Given the description of an element on the screen output the (x, y) to click on. 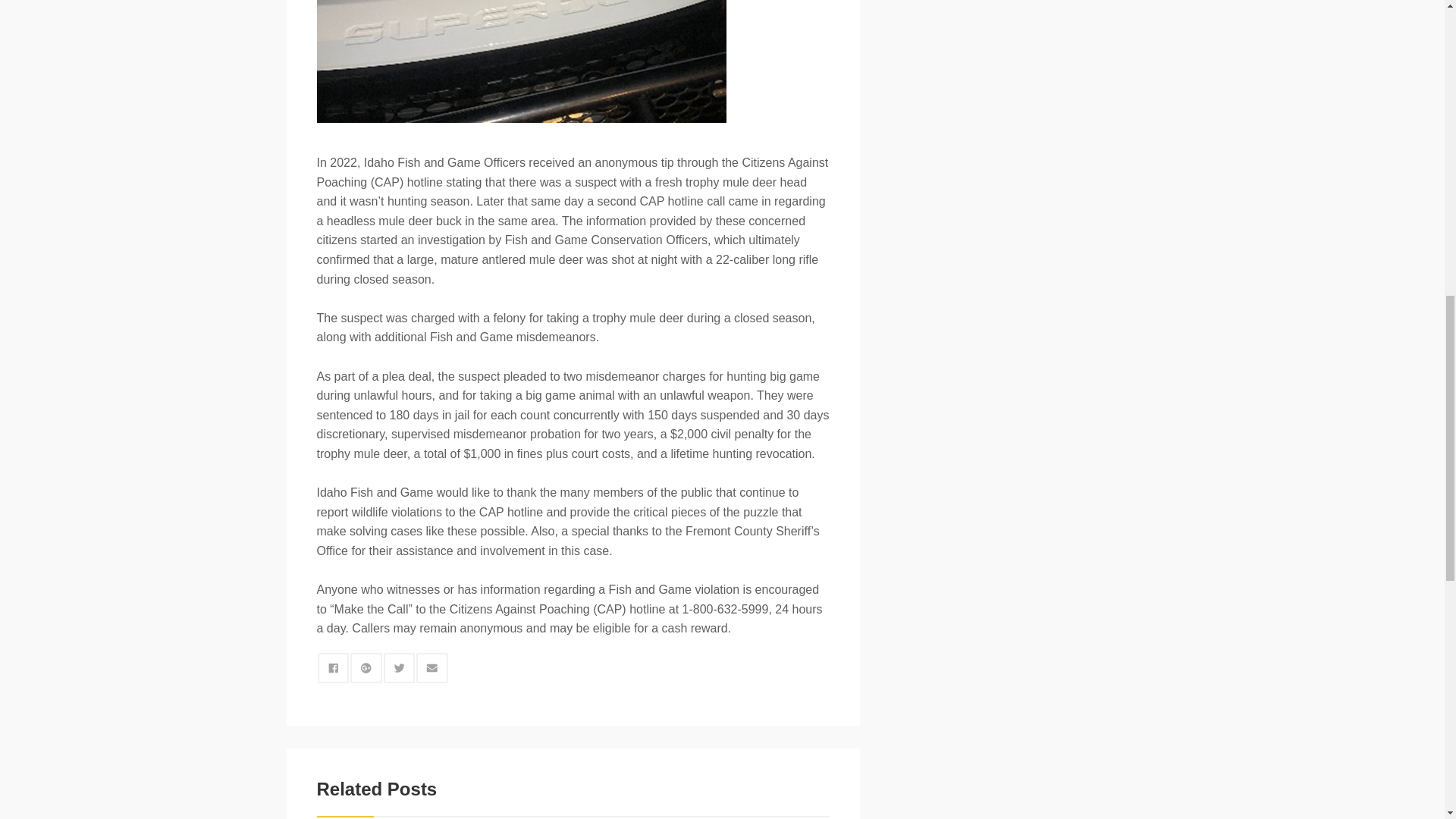
Share this on Twitter (399, 667)
Share this via Email (432, 667)
Share this on Facebook (333, 667)
